Given the description of an element on the screen output the (x, y) to click on. 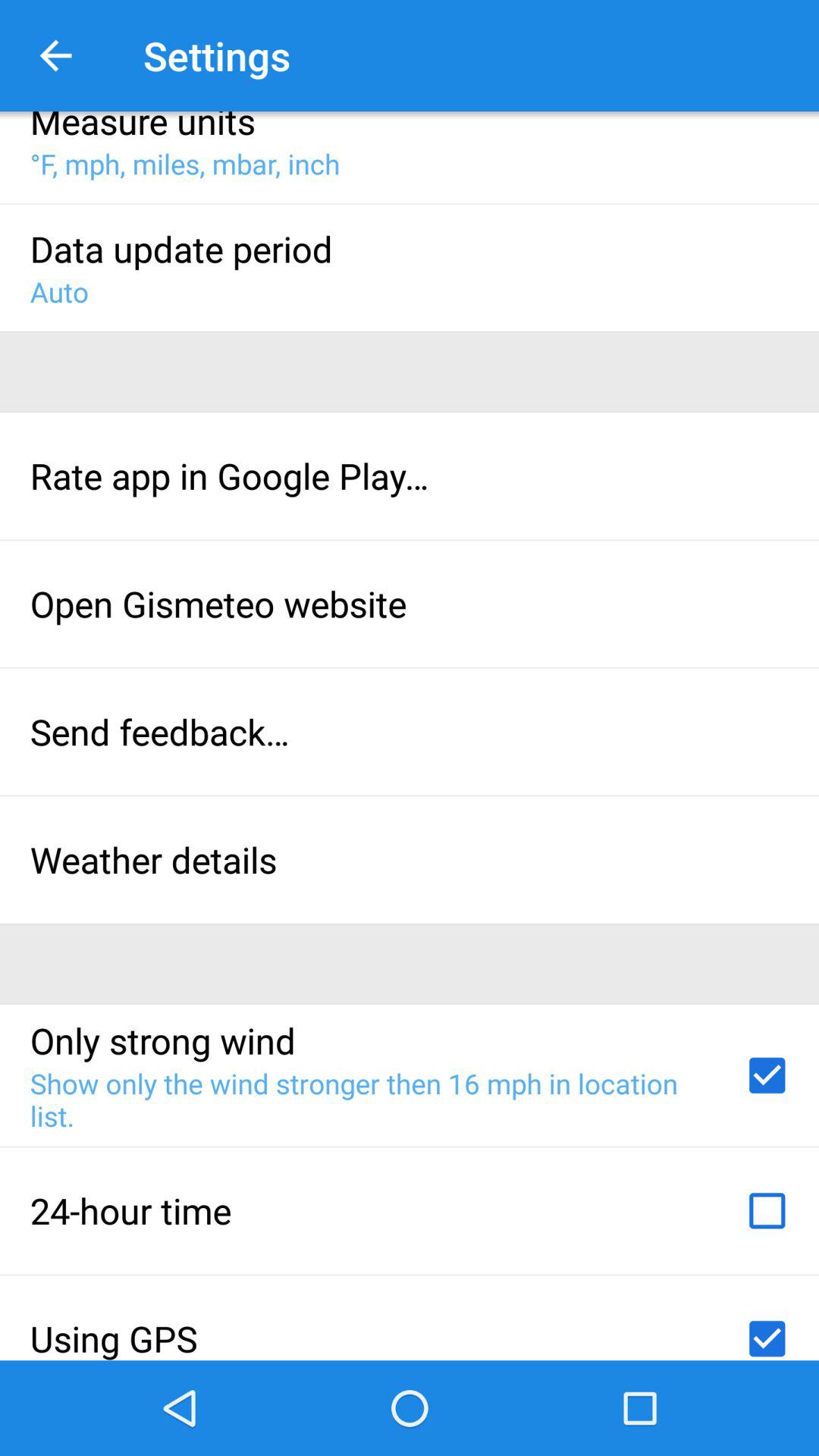
select the last 2nd icon (767, 1211)
select the last check box (767, 1333)
